Given the description of an element on the screen output the (x, y) to click on. 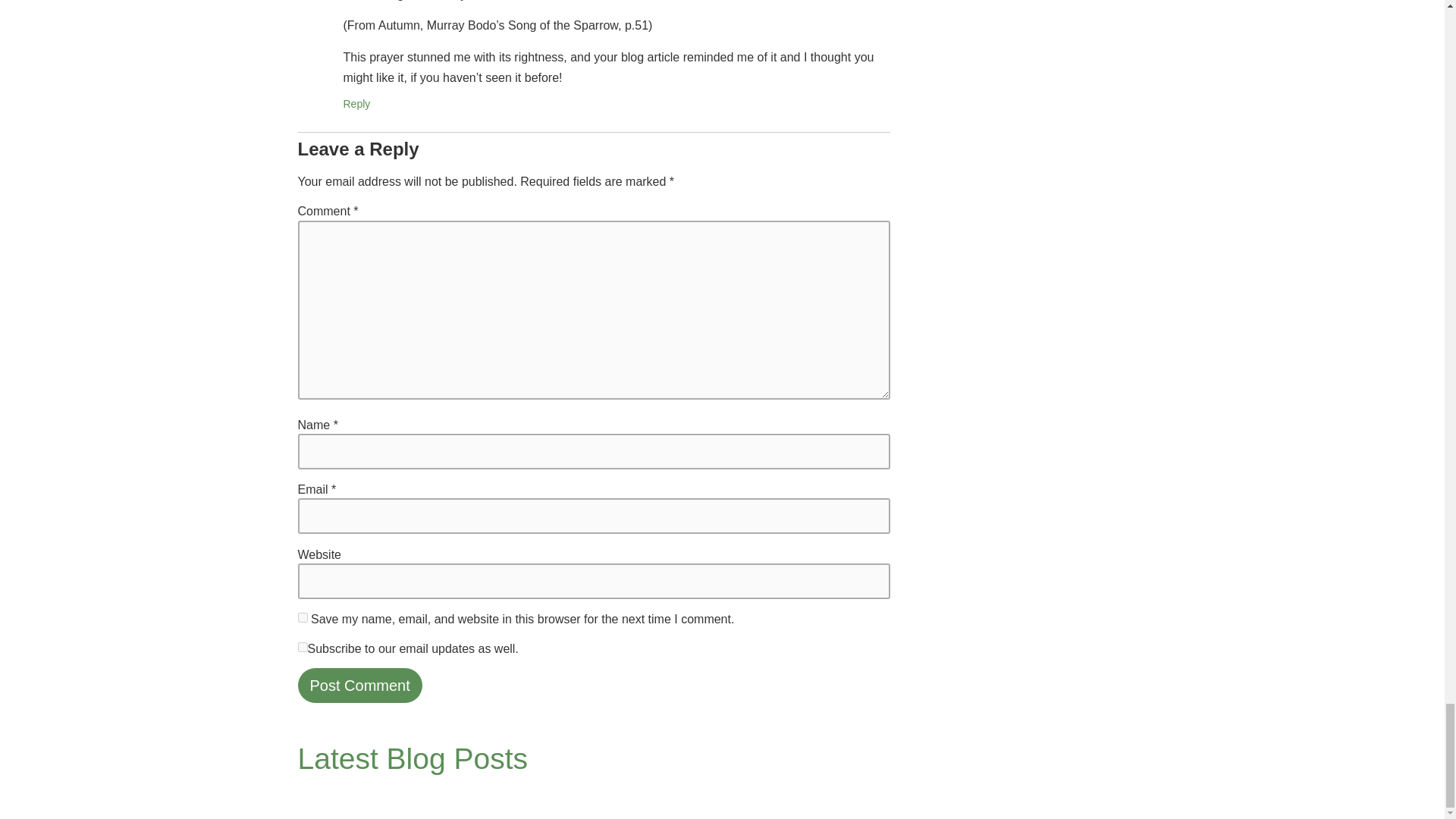
Post Comment (359, 685)
Reply (355, 103)
yes (302, 646)
yes (302, 617)
Post Comment (359, 685)
